Given the description of an element on the screen output the (x, y) to click on. 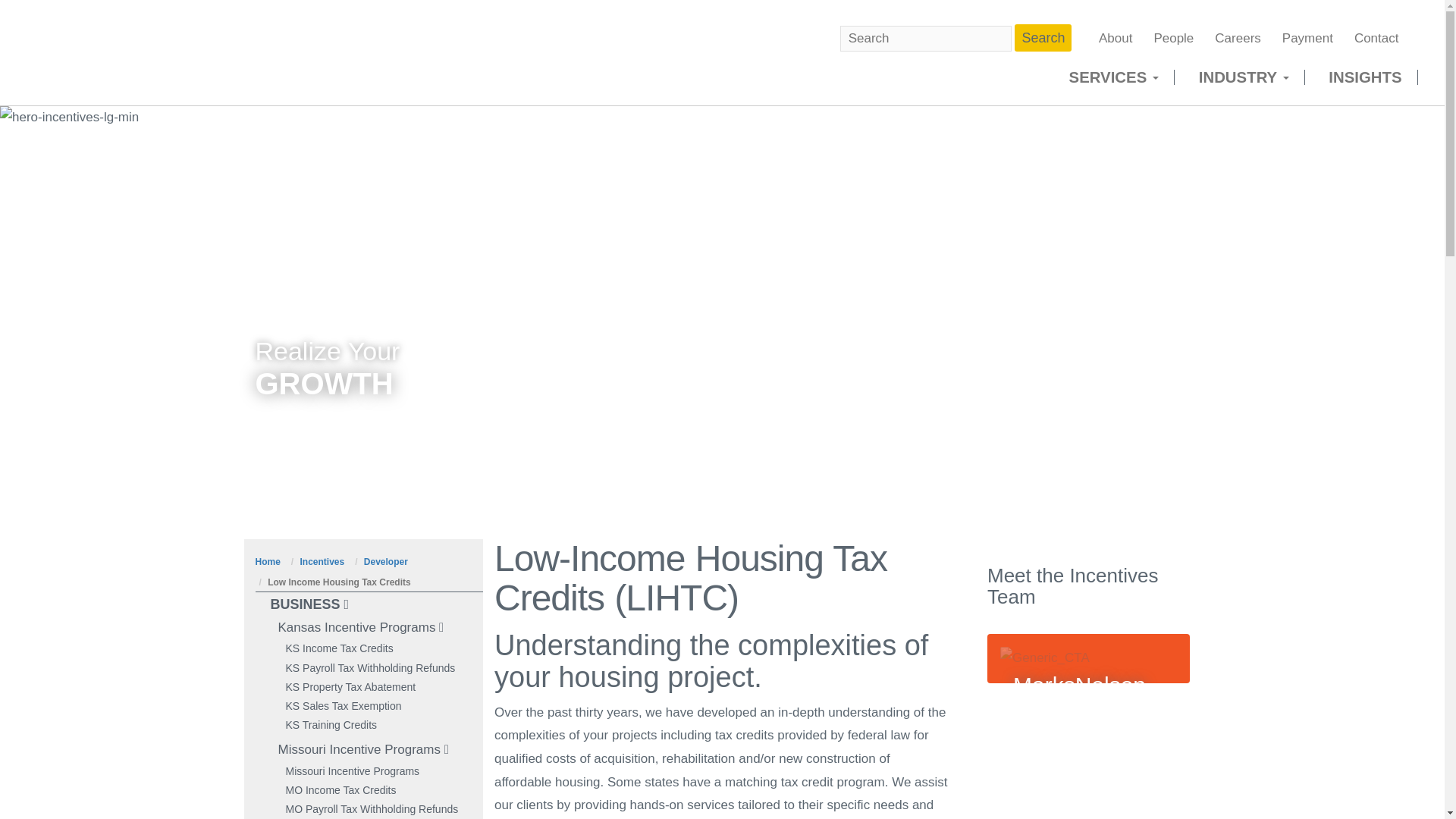
About (1115, 37)
MarksNelson (184, 52)
SERVICES (1113, 77)
Search input (925, 38)
Search (1042, 37)
INSIGHTS (1365, 77)
People (1173, 37)
INDUSTRY (1243, 77)
Contact (1376, 37)
Careers (1237, 37)
